Given the description of an element on the screen output the (x, y) to click on. 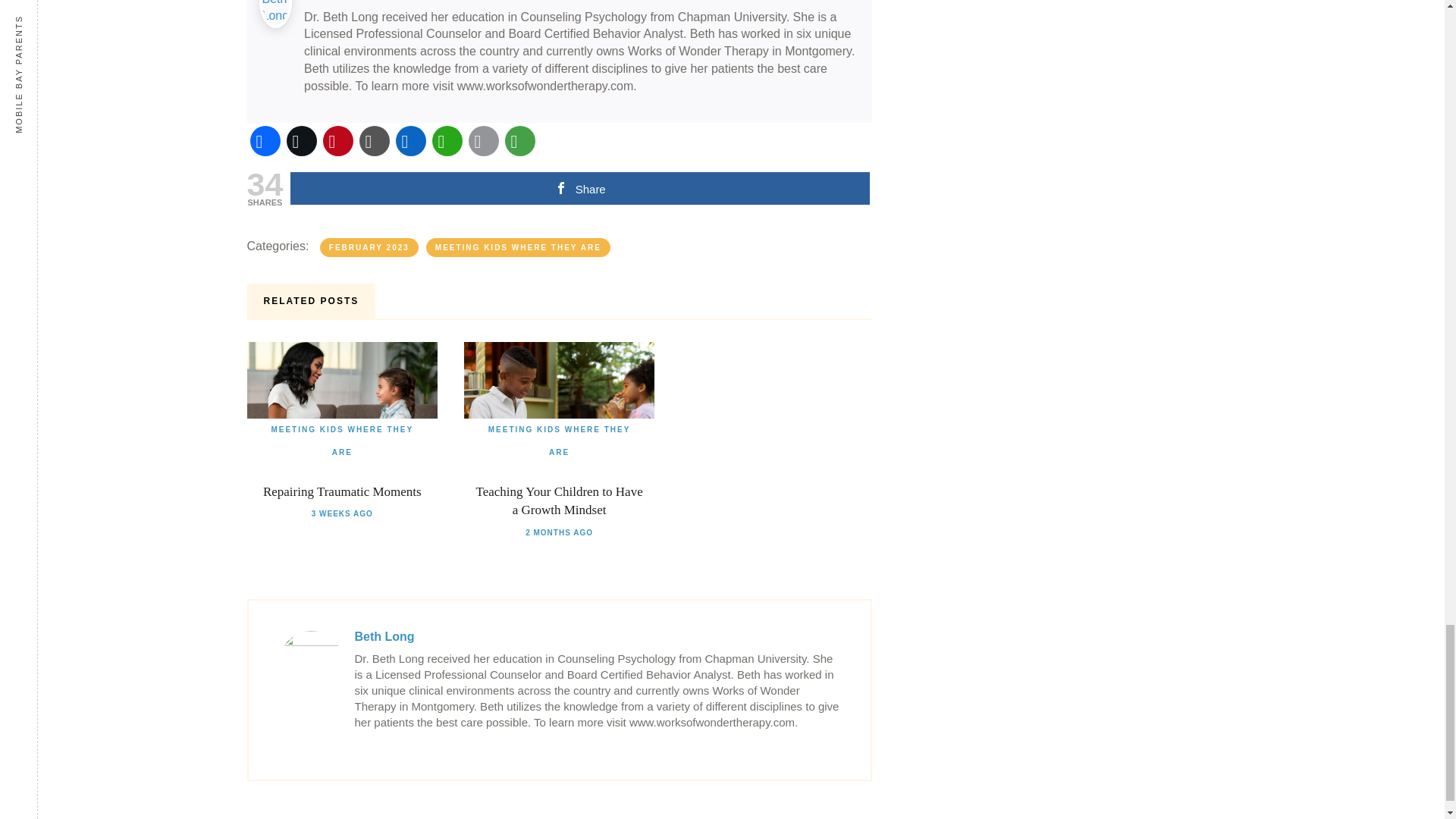
Copy Link (374, 140)
More Options (520, 140)
Facebook (265, 140)
Posts by Beth Long (384, 635)
Pinterest (338, 140)
Email This (483, 140)
WhatsApp (447, 140)
LinkedIn (411, 140)
